Given the description of an element on the screen output the (x, y) to click on. 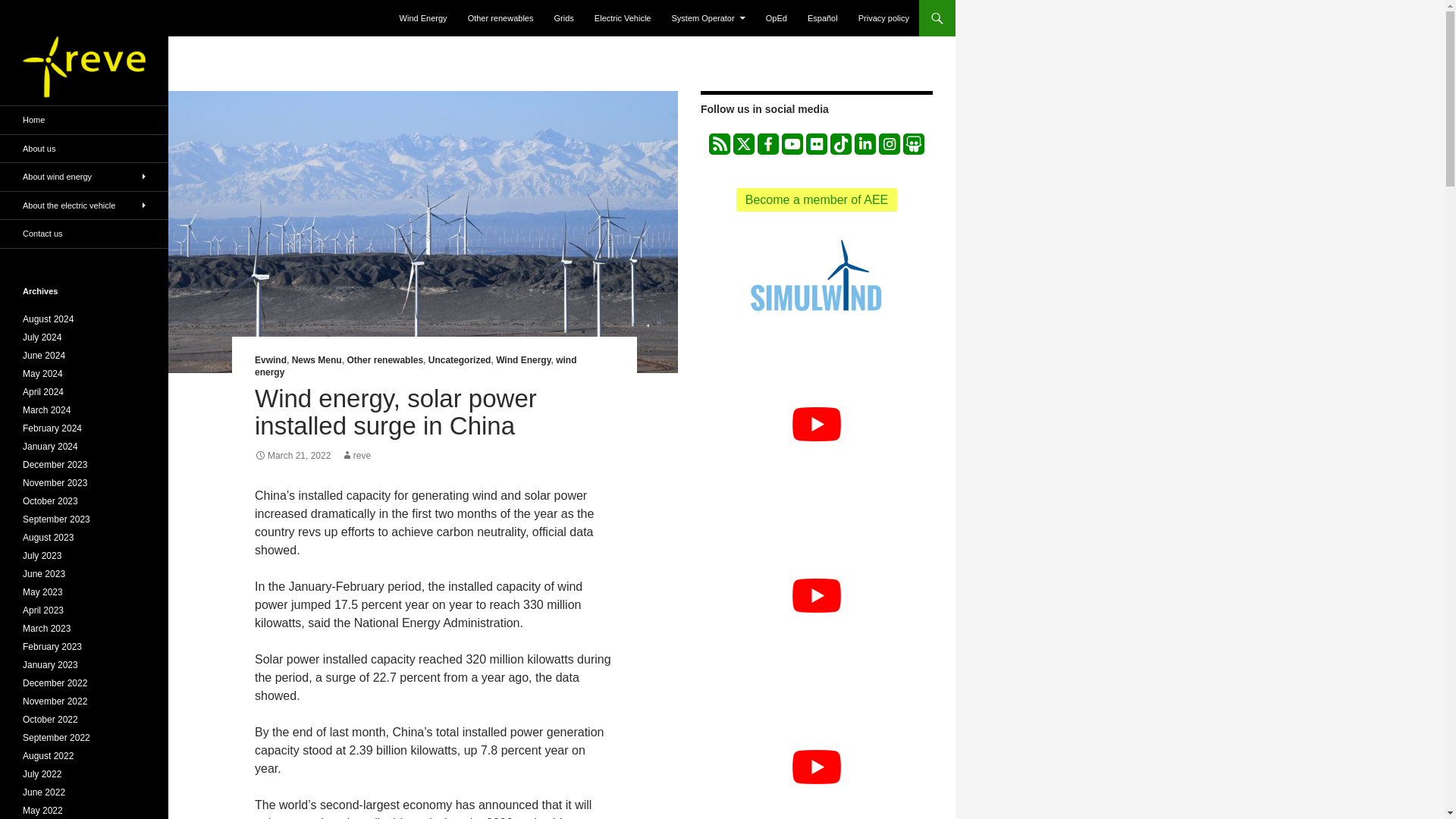
Electric Vehicle (623, 18)
Wind Energy (523, 359)
News Menu (317, 359)
Become a member of AEE (817, 199)
Wind Energy (423, 18)
LinkedIn (865, 143)
wind energy (415, 365)
facebook (767, 143)
OpEd (776, 18)
flickr (816, 143)
